Given the description of an element on the screen output the (x, y) to click on. 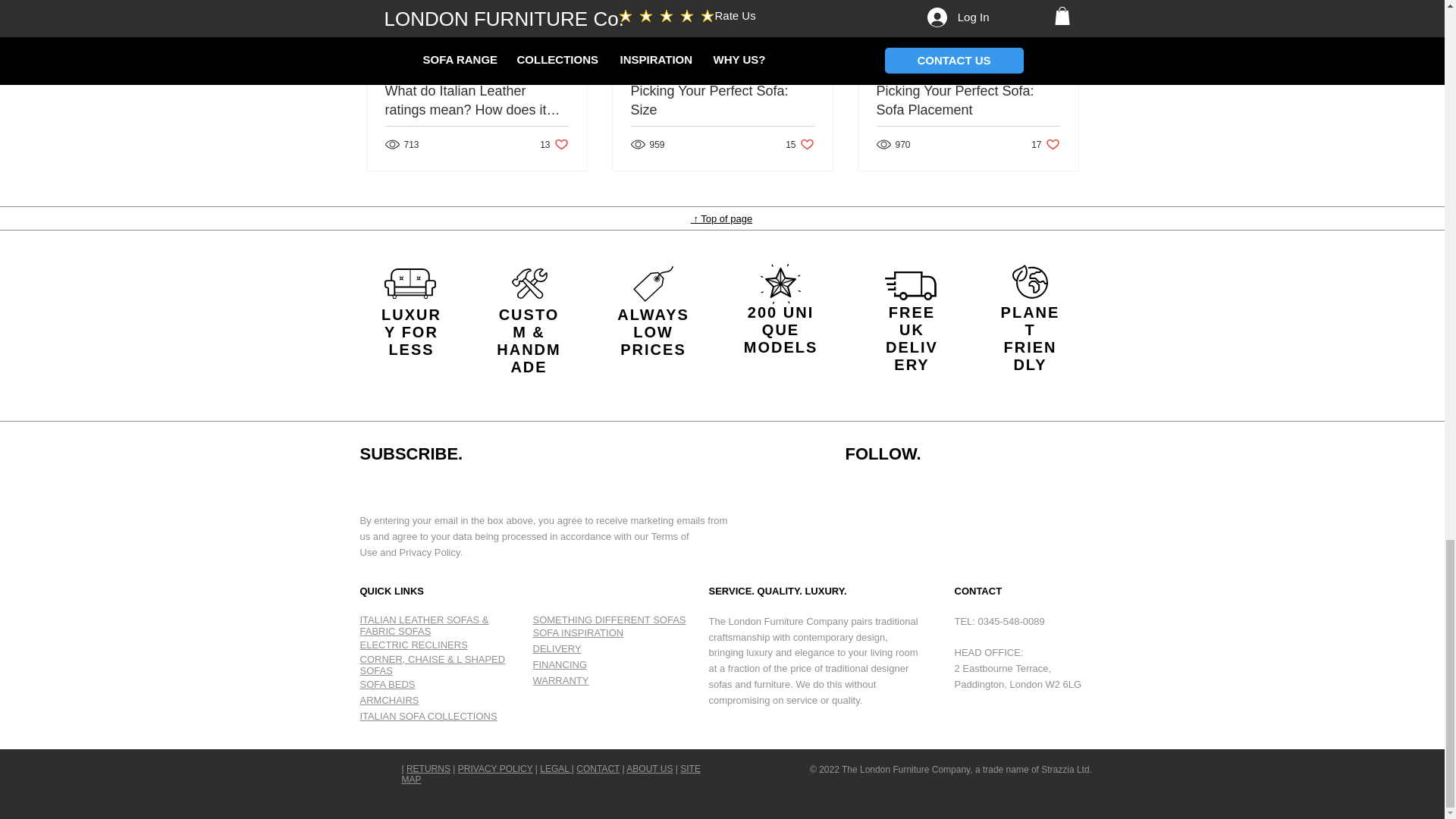
200 UNIQUE MODELS (781, 329)
LUXURY FOR LESS (411, 331)
ALWAYS LOW PRICES (652, 331)
PLANET (1030, 320)
